Given the description of an element on the screen output the (x, y) to click on. 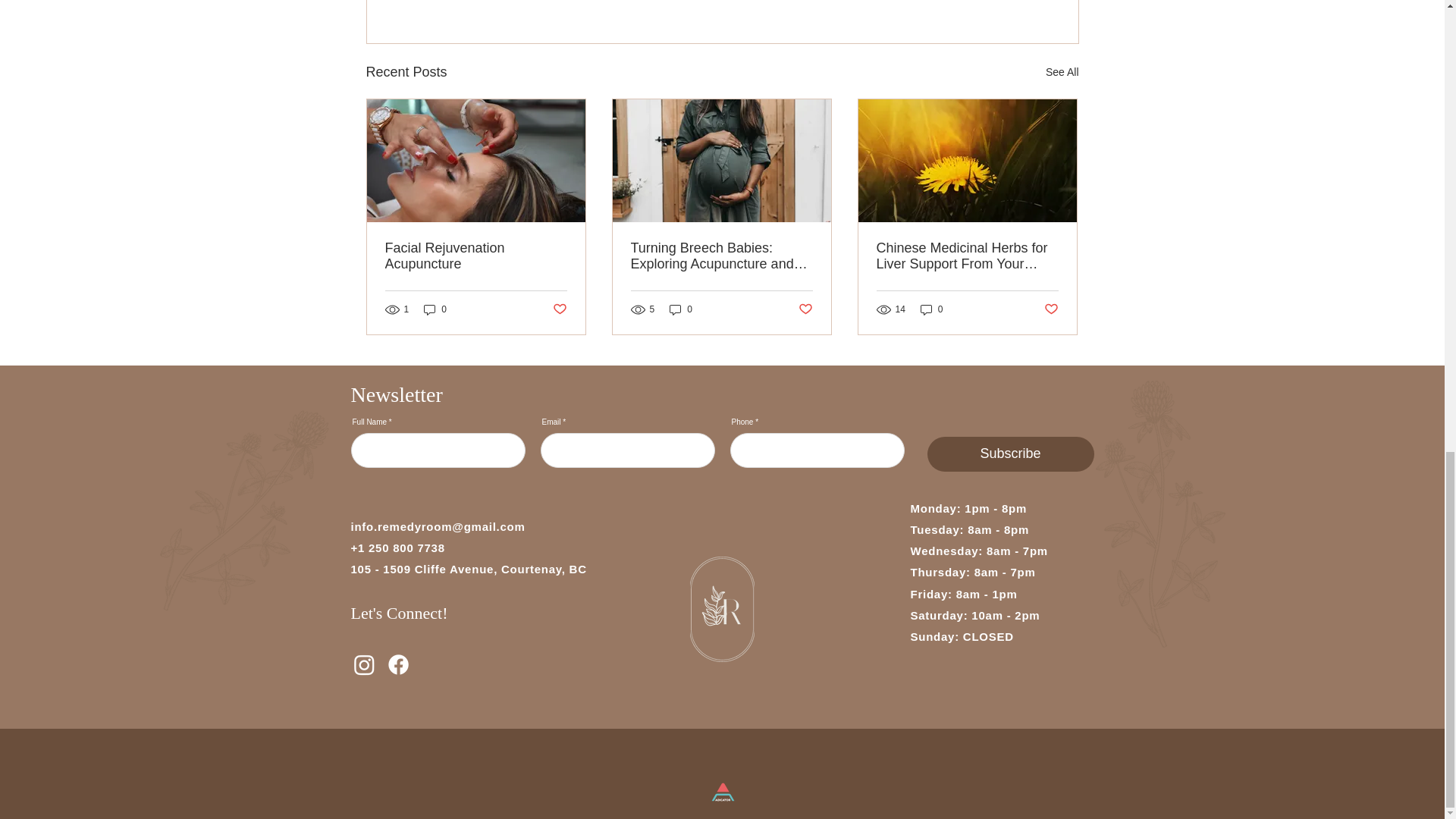
Chinese Medicinal Herbs for Liver Support From Your Garden (967, 255)
0 (681, 309)
0 (435, 309)
Post not marked as liked (558, 308)
See All (1061, 72)
Facial Rejuvenation Acupuncture (476, 255)
Post not marked as liked (804, 308)
The Remedy Room (243, 513)
